Given the description of an element on the screen output the (x, y) to click on. 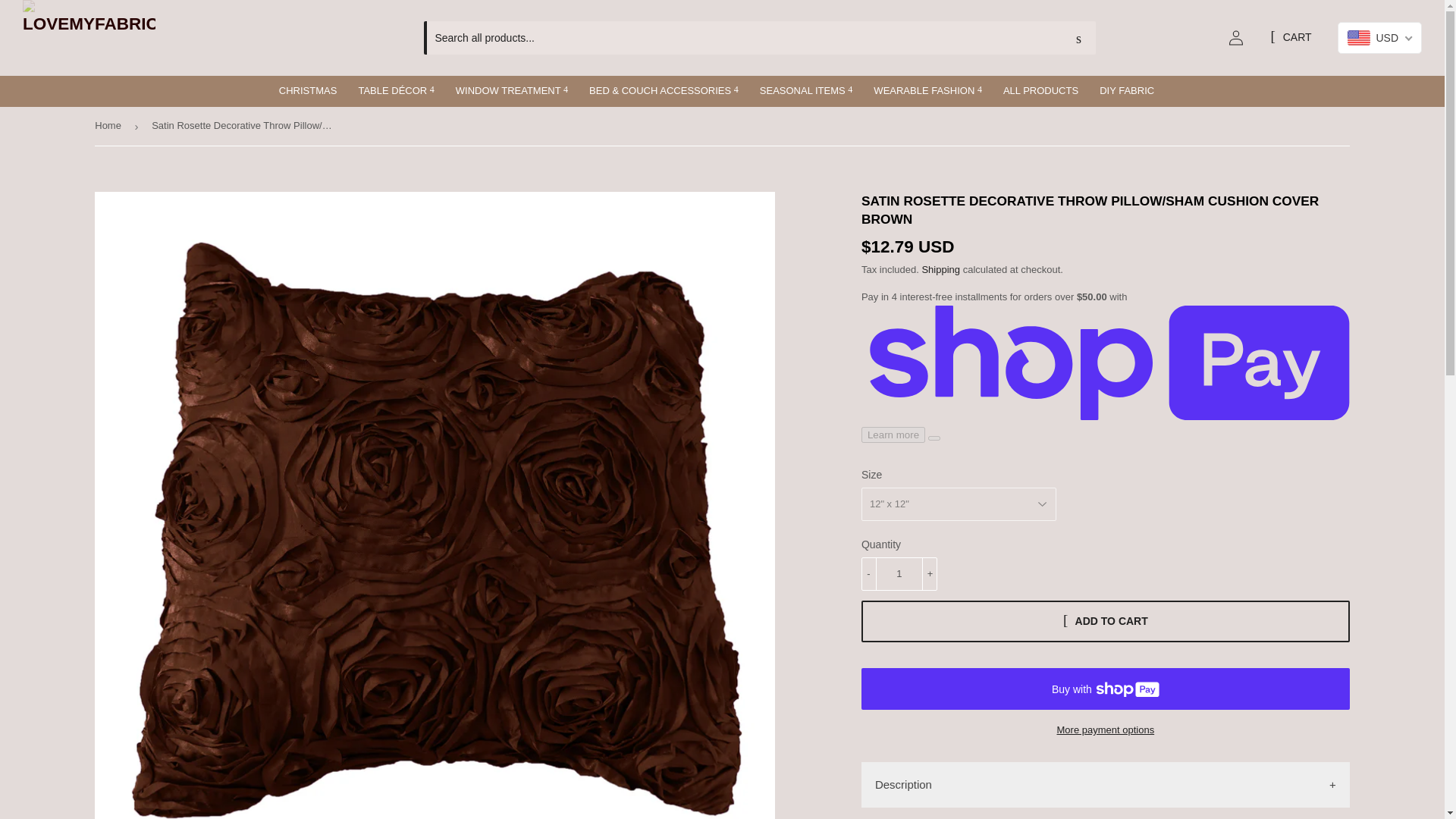
1 (899, 573)
Search (1078, 38)
CART (1290, 37)
